Given the description of an element on the screen output the (x, y) to click on. 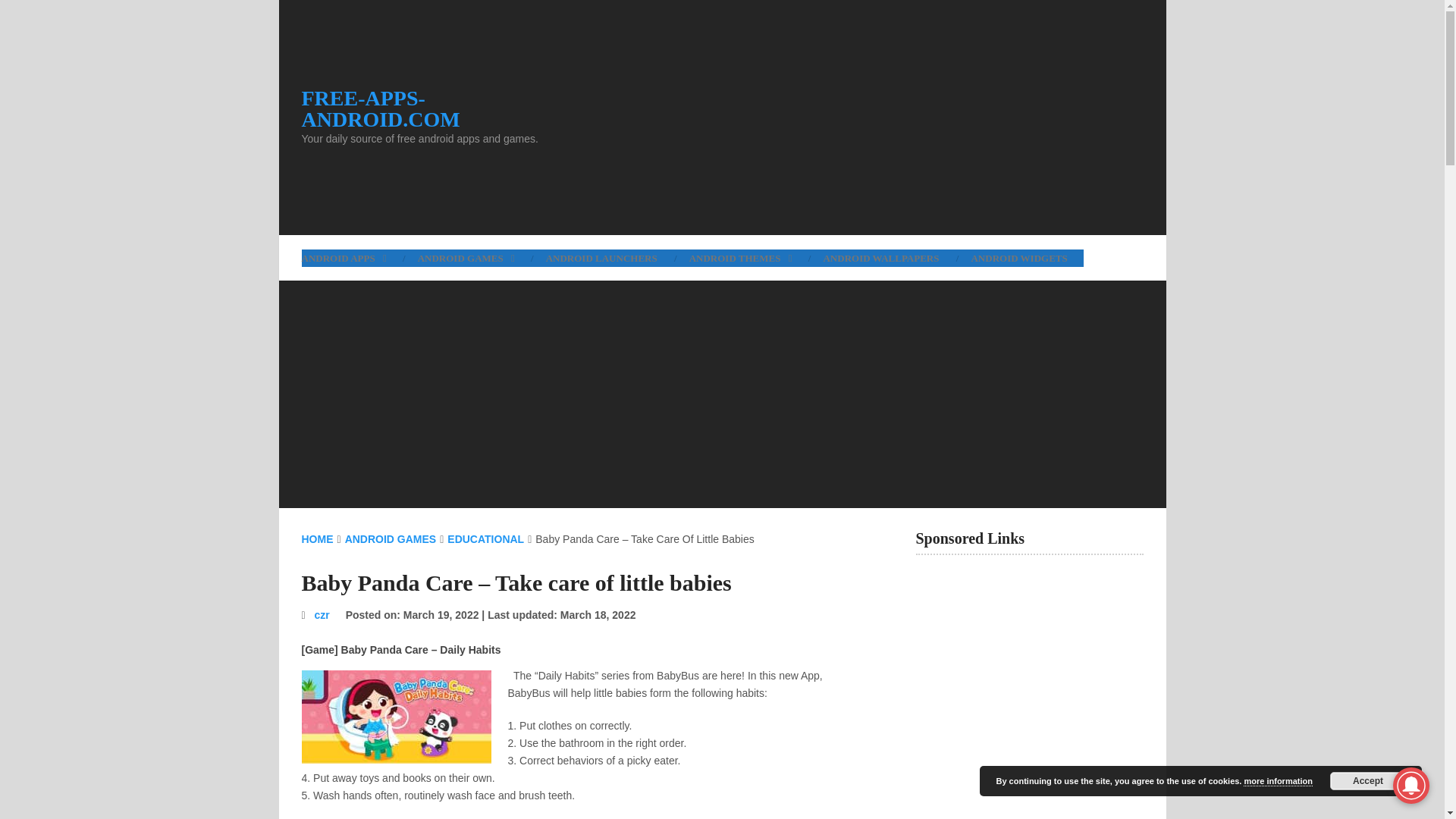
Advertisement (862, 117)
ANDROID GAMES (465, 257)
ANDROID APPS (351, 257)
Posts by czr (322, 614)
FREE-APPS-ANDROID.COM (441, 108)
